Given the description of an element on the screen output the (x, y) to click on. 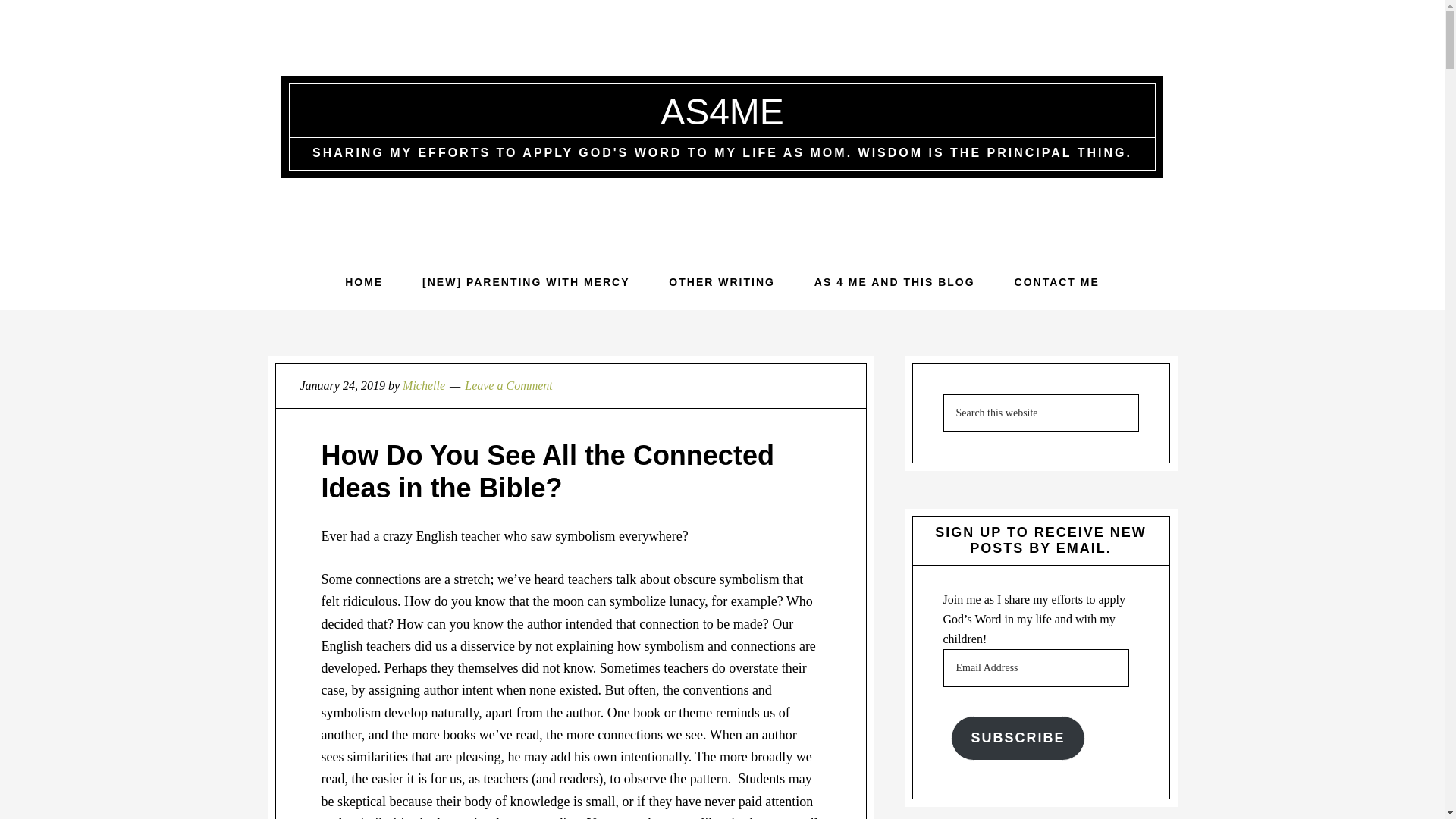
AS4ME (722, 111)
SUBSCRIBE (1018, 737)
AS 4 ME AND THIS BLOG (894, 281)
HOME (363, 281)
Leave a Comment (508, 385)
Michelle (424, 385)
OTHER WRITING (721, 281)
CONTACT ME (1056, 281)
